Given the description of an element on the screen output the (x, y) to click on. 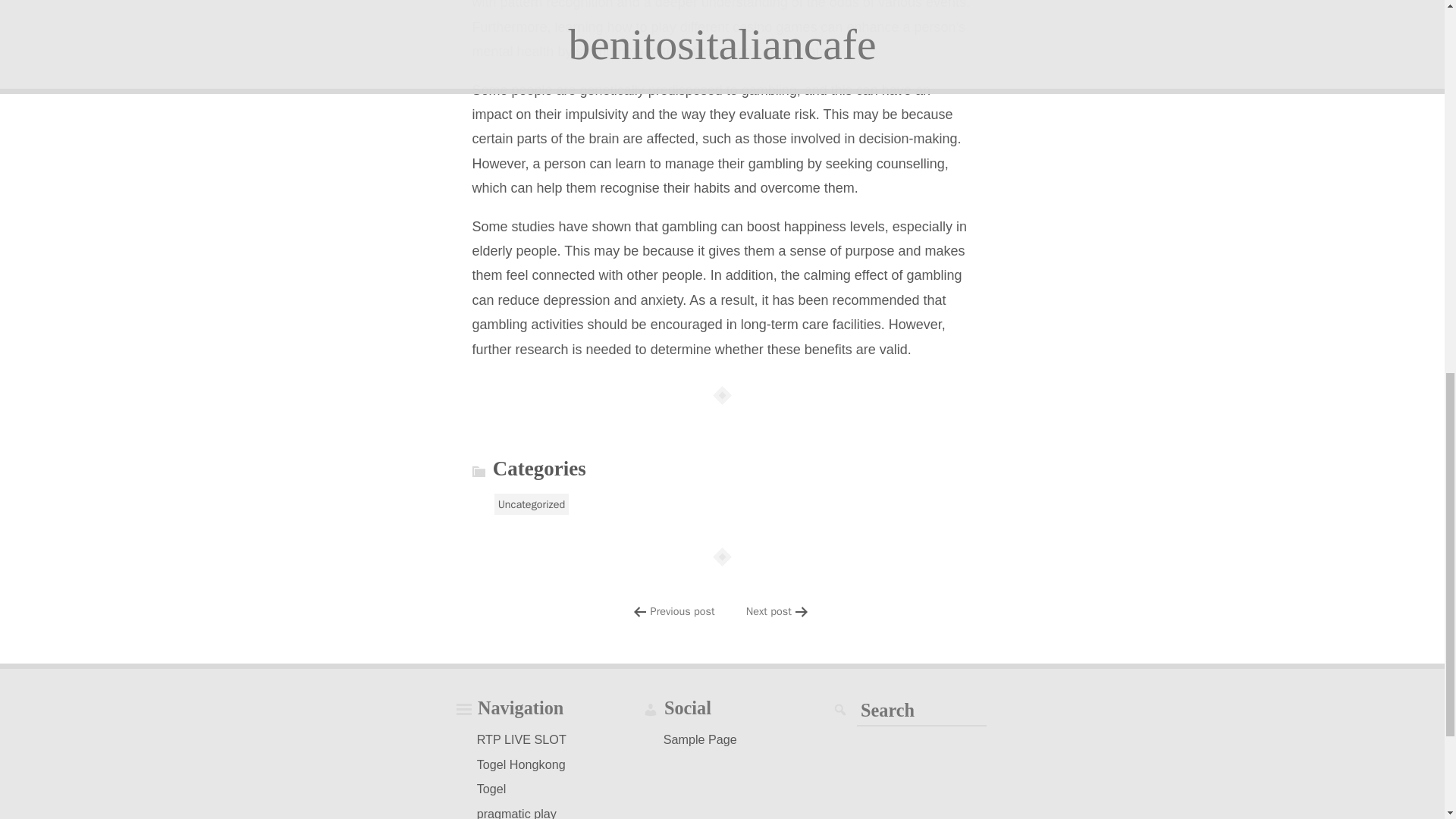
Sample Page (700, 739)
Togel Hongkong (521, 763)
Togel (491, 788)
RTP LIVE SLOT (521, 739)
Next post (768, 610)
Previous post (682, 610)
Uncategorized (532, 504)
